Given the description of an element on the screen output the (x, y) to click on. 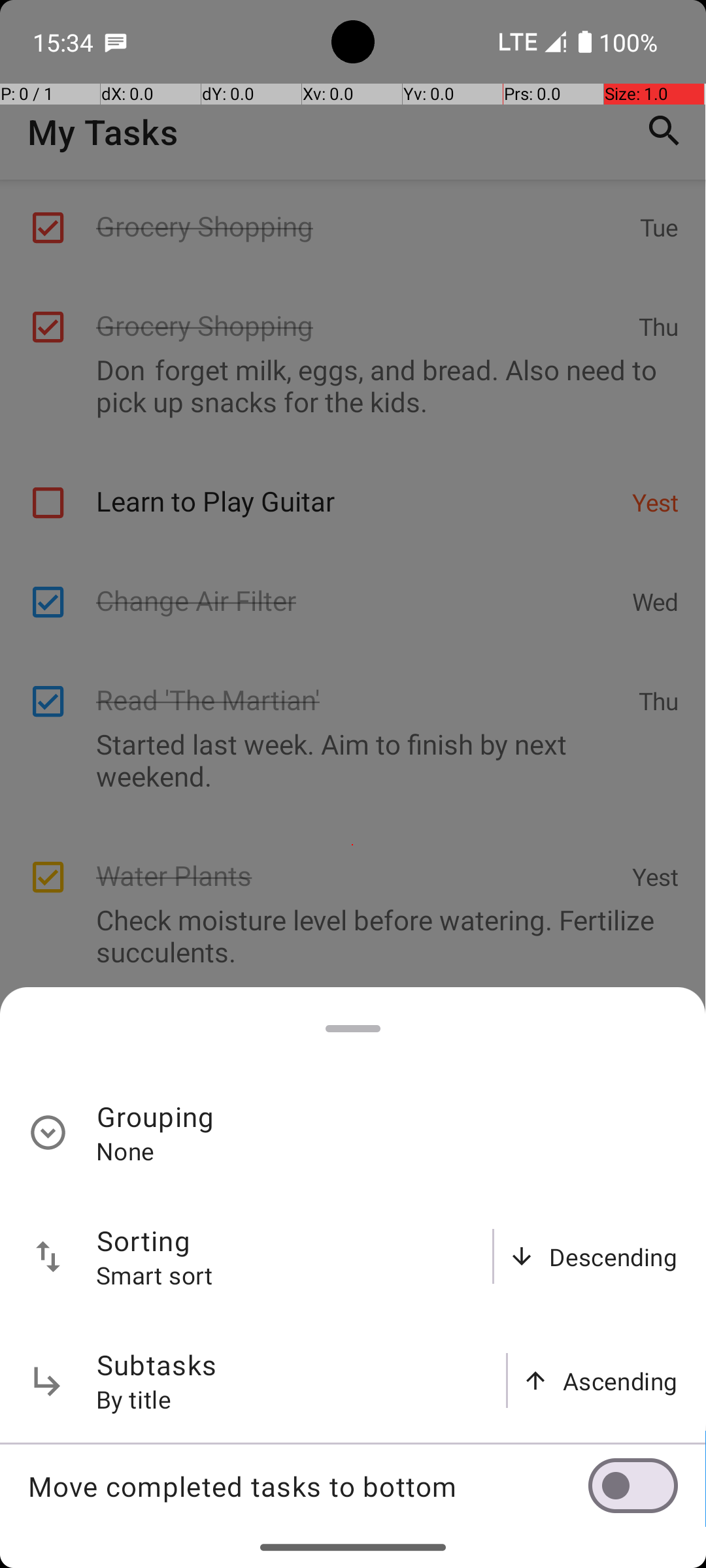
Drag handle Element type: android.view.View (352, 1028)
Grouping Element type: android.widget.TextView (155, 1115)
Sorting Element type: android.widget.TextView (143, 1239)
Smart sort Element type: android.widget.TextView (154, 1274)
Subtasks Element type: android.widget.TextView (156, 1364)
By title Element type: android.widget.TextView (133, 1399)
Move completed tasks to bottom Element type: android.widget.TextView (307, 1485)
Descending Element type: android.widget.TextView (613, 1256)
Ascending Element type: android.widget.TextView (619, 1380)
